Given the description of an element on the screen output the (x, y) to click on. 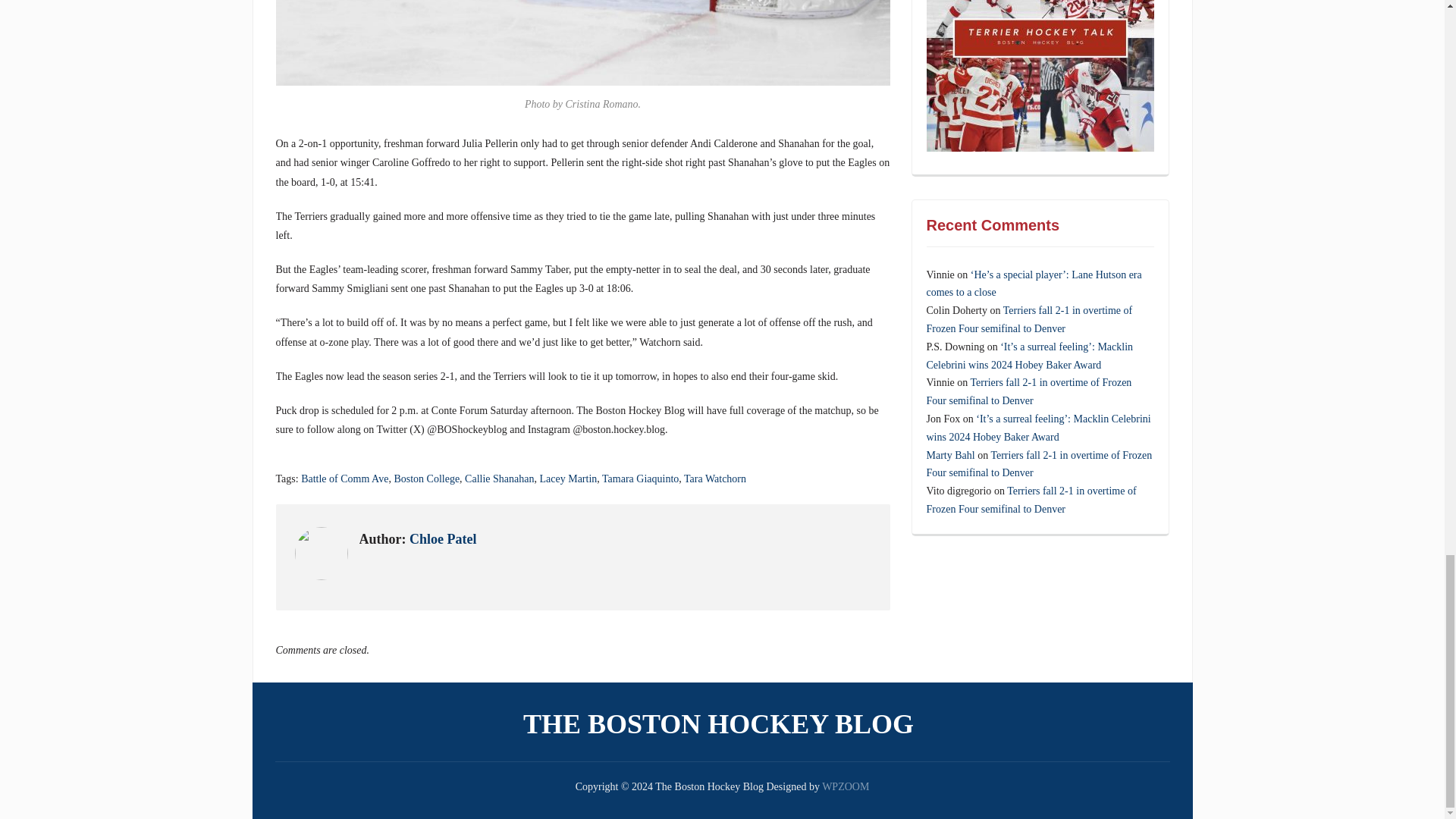
Callie Shanahan (499, 478)
Chloe Patel (442, 539)
Tara Watchorn (714, 478)
Tamara Giaquinto (640, 478)
Battle of Comm Ave (344, 478)
WPZOOM WordPress Themes (845, 786)
Lacey Martin (567, 478)
Boston College (426, 478)
